Given the description of an element on the screen output the (x, y) to click on. 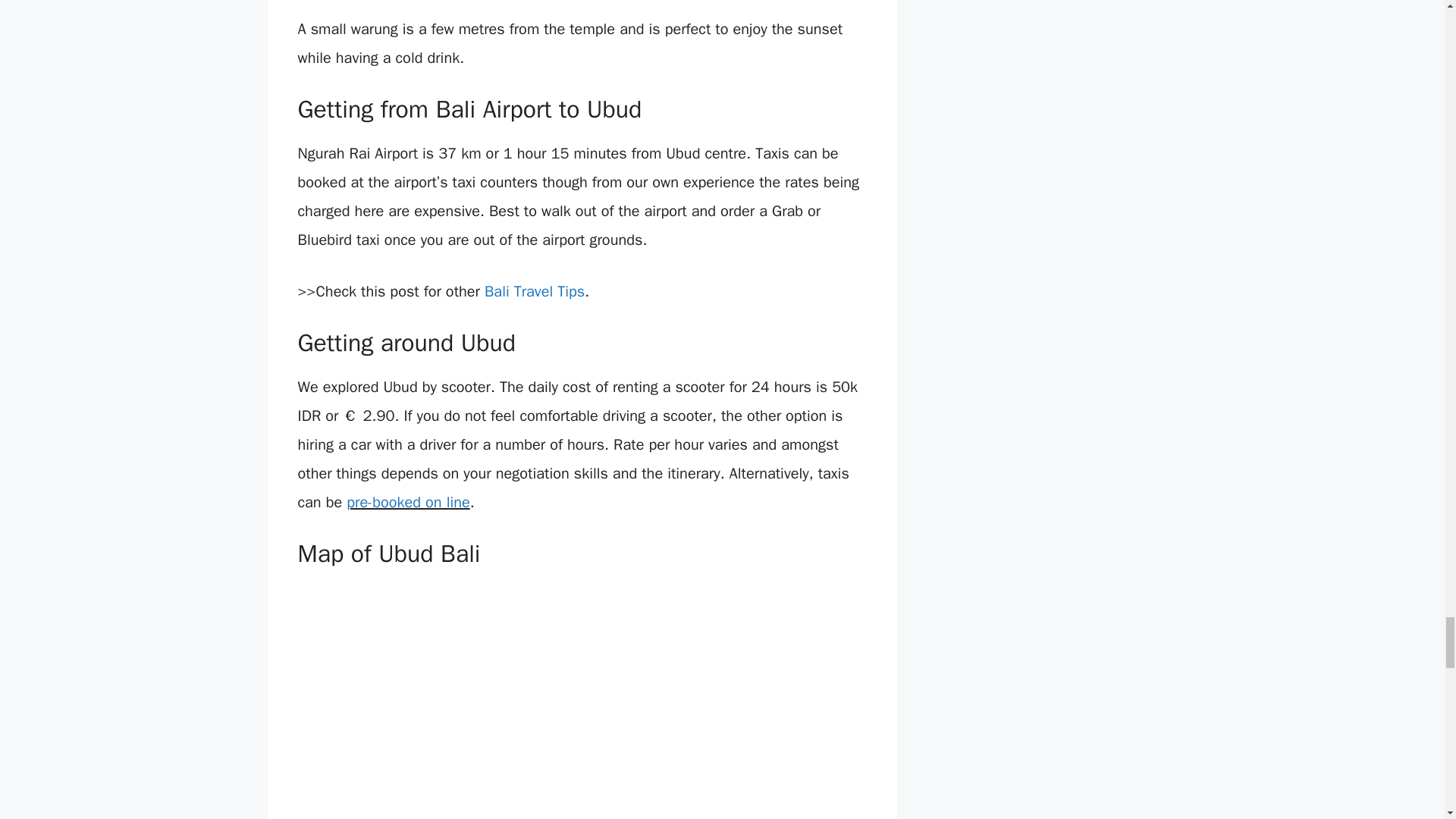
pre-booked on line (408, 502)
Bali Travel Tips (534, 291)
